Given the description of an element on the screen output the (x, y) to click on. 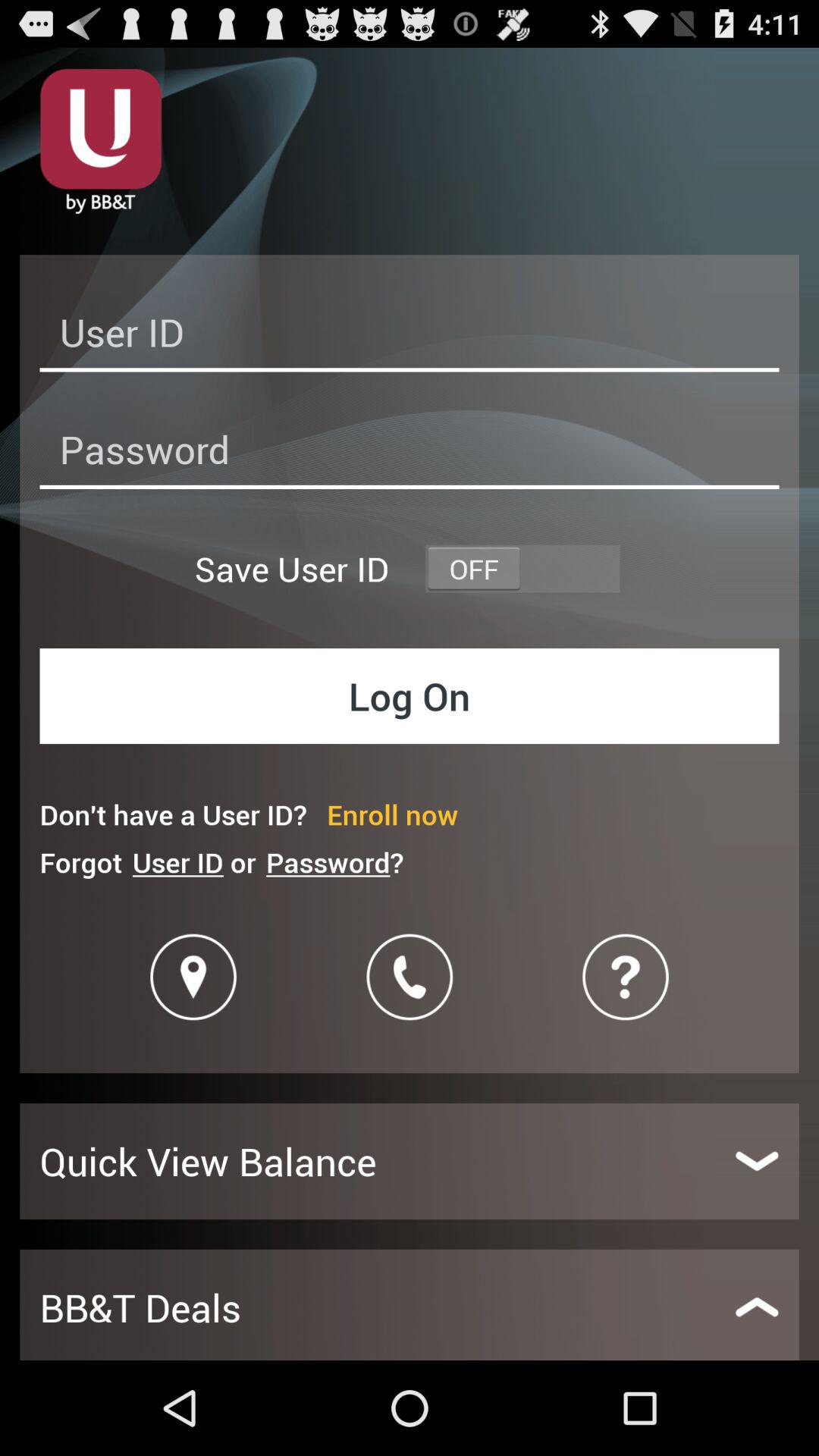
enter user id (409, 336)
